Given the description of an element on the screen output the (x, y) to click on. 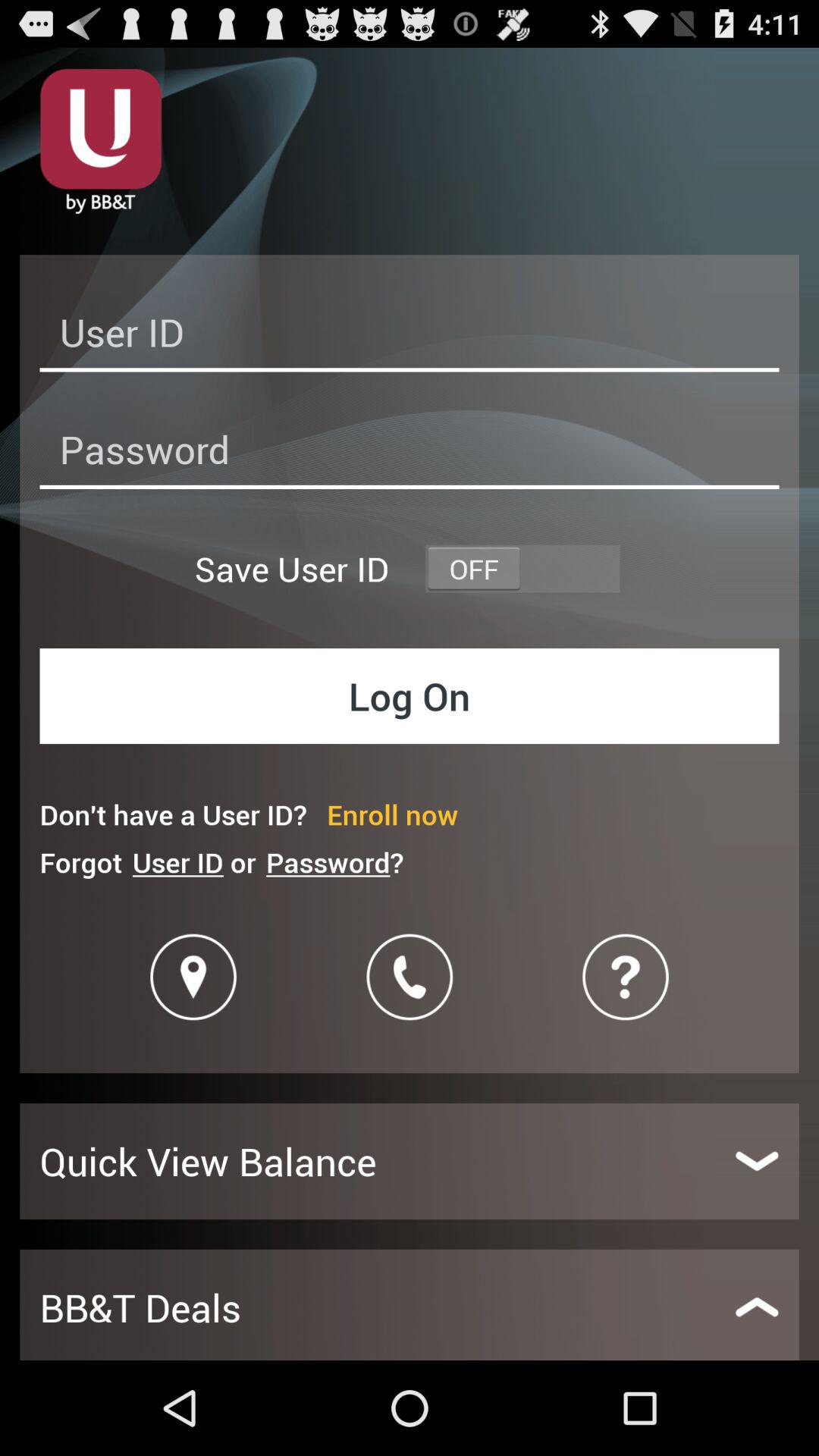
enter user id (409, 336)
